Given the description of an element on the screen output the (x, y) to click on. 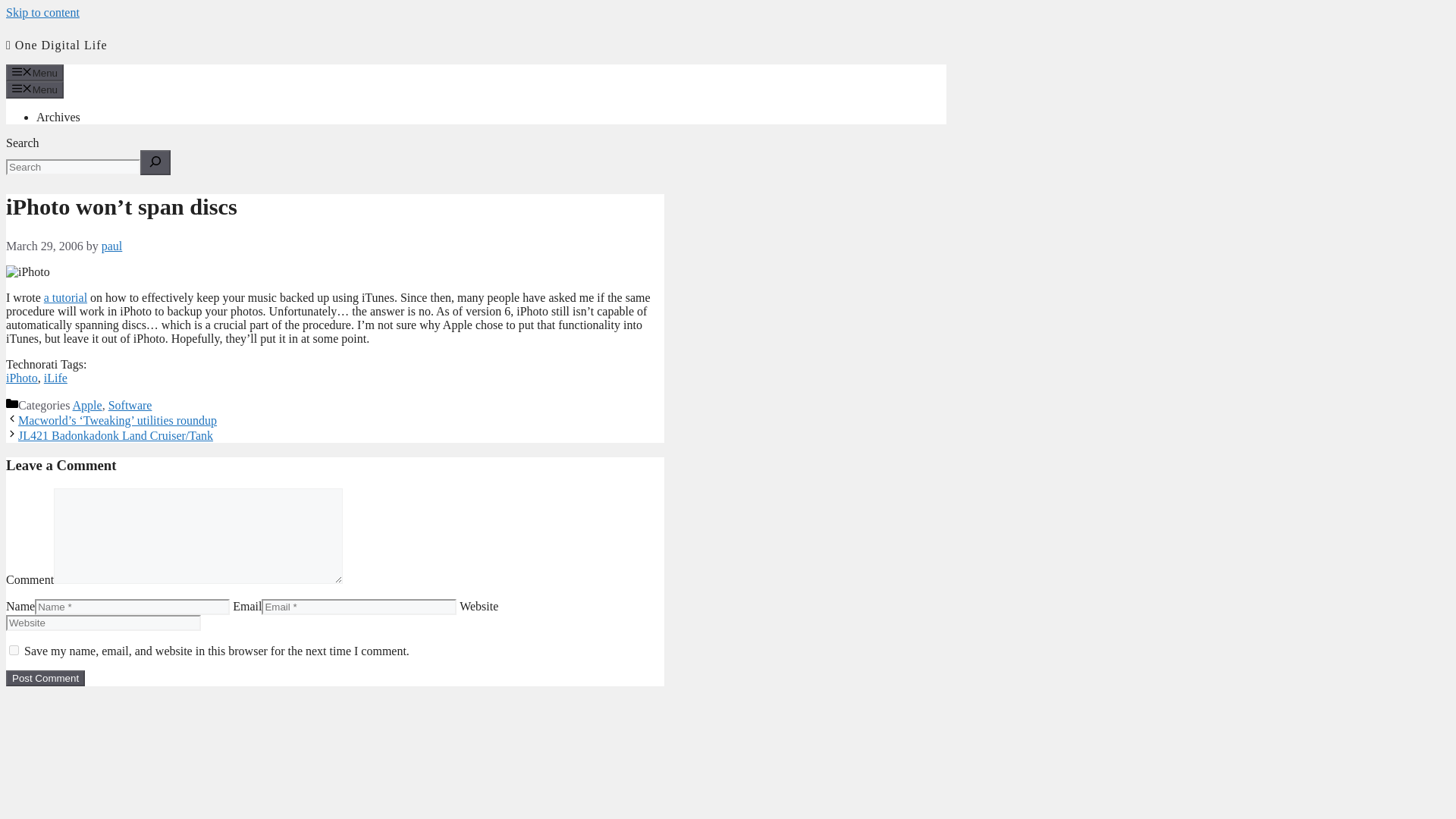
Menu (34, 72)
Apple (86, 404)
Skip to content (42, 11)
Menu (34, 89)
paul (111, 245)
Archives (58, 116)
yes (13, 650)
Skip to content (42, 11)
Software (129, 404)
iLife (54, 377)
